Given the description of an element on the screen output the (x, y) to click on. 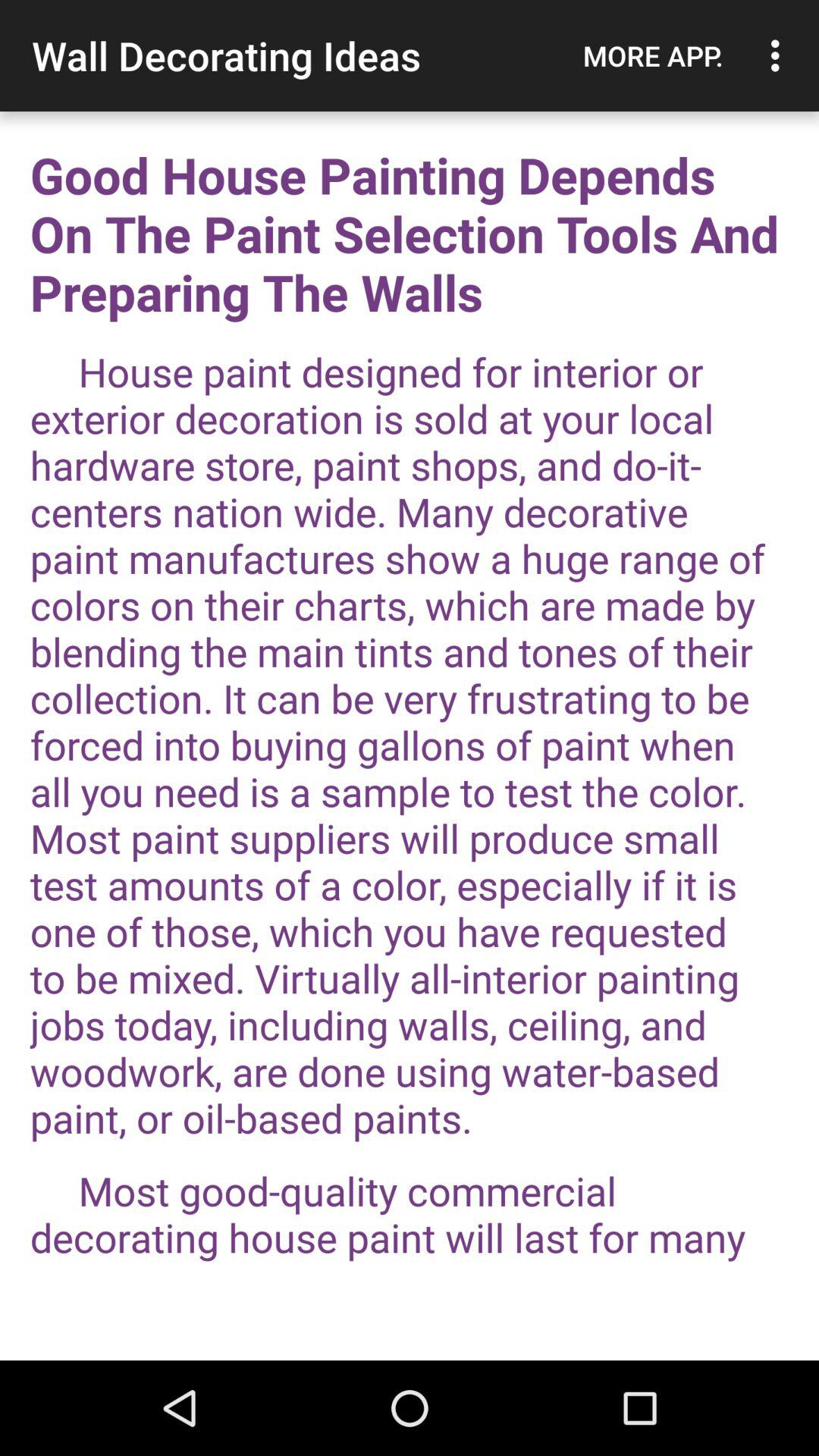
launch the icon above the good house painting icon (653, 55)
